Given the description of an element on the screen output the (x, y) to click on. 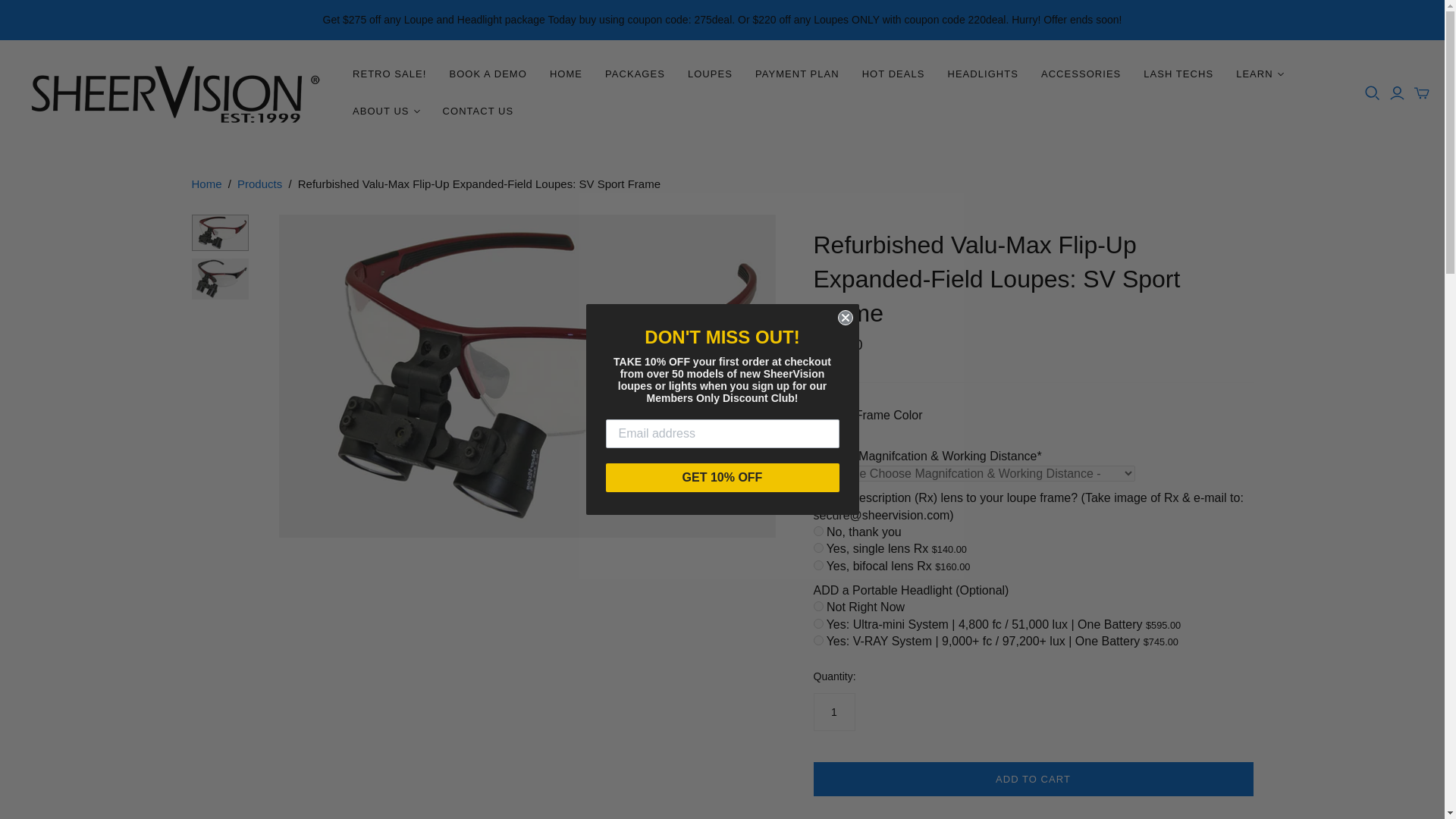
PAYMENT PLAN (797, 74)
HEADLIGHTS (982, 74)
ACCESSORIES (1080, 74)
ABOUT US (385, 110)
Red (817, 430)
CONTACT US (477, 110)
Yes, single lens Rx (817, 547)
Not Right Now (817, 605)
HOT DEALS (893, 74)
PACKAGES (635, 74)
LEARN (1259, 74)
RETRO SALE! (389, 74)
1 (833, 711)
No, thank you (817, 531)
Yes, bifocal lens Rx (817, 565)
